Given the description of an element on the screen output the (x, y) to click on. 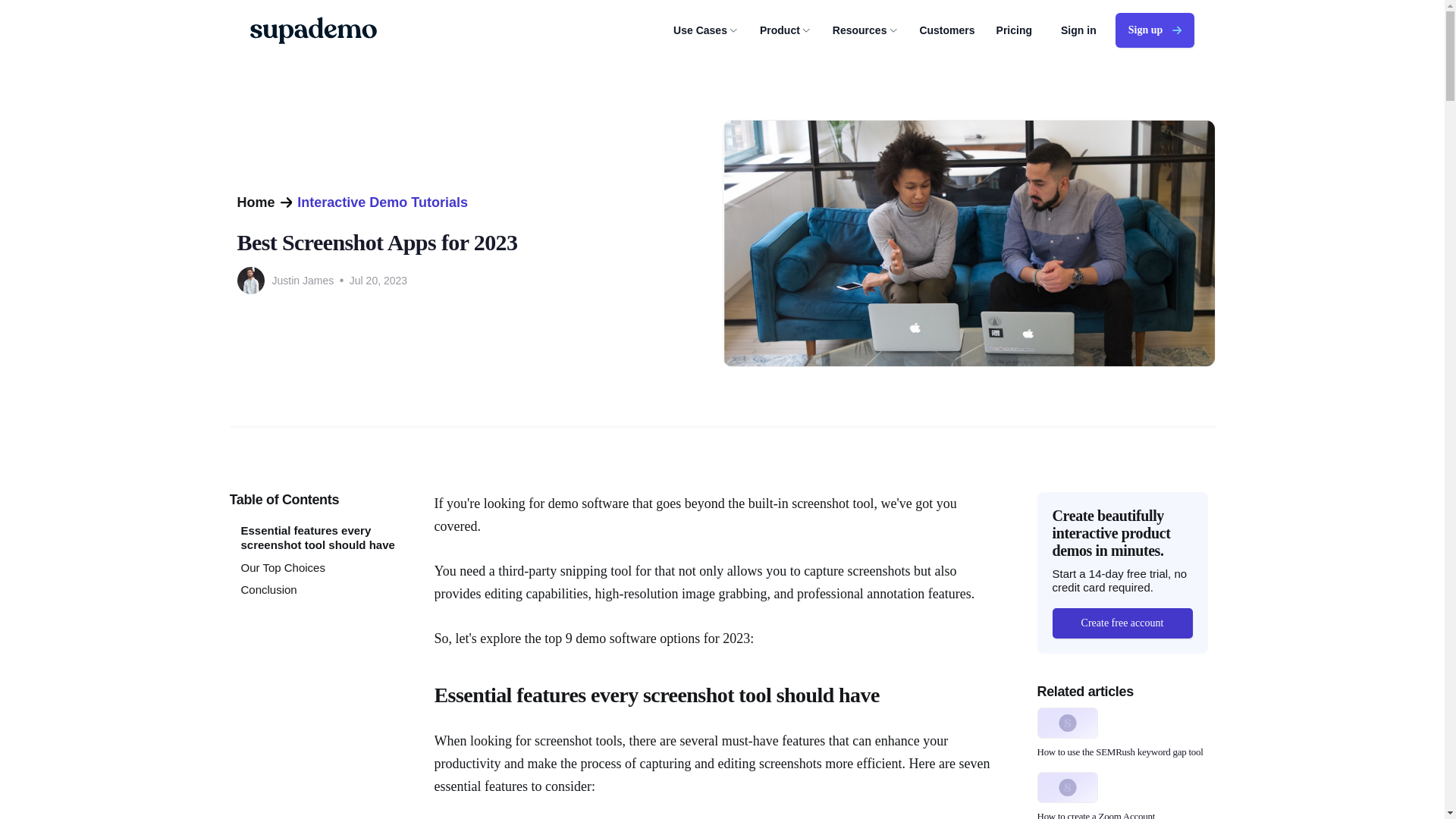
Pricing (1013, 30)
Use Cases (705, 30)
Sign up (1154, 30)
Customers (946, 30)
Product (785, 30)
Sign in (1077, 30)
Resources (865, 30)
